Given the description of an element on the screen output the (x, y) to click on. 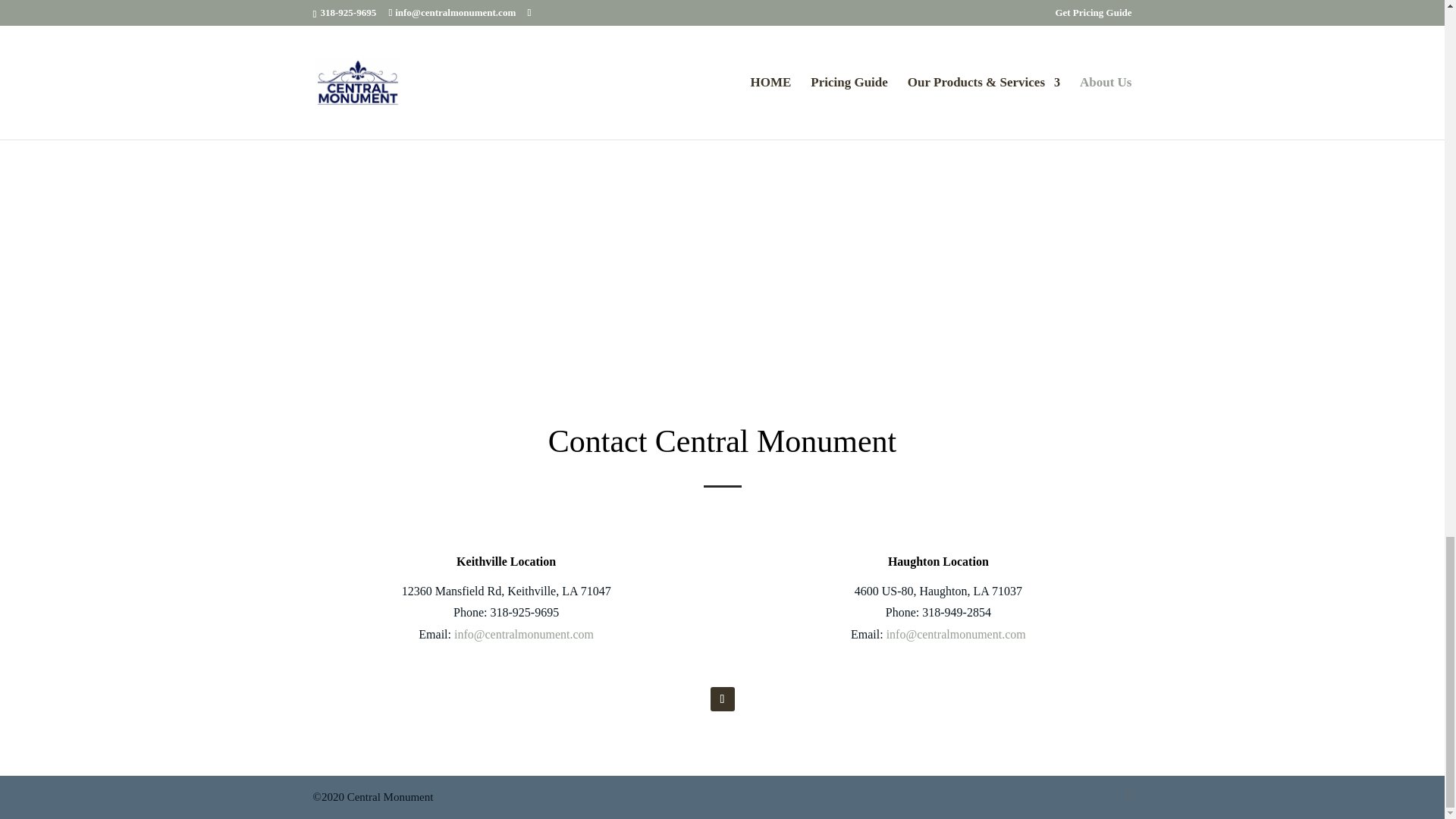
Follow on Facebook (721, 699)
